Given the description of an element on the screen output the (x, y) to click on. 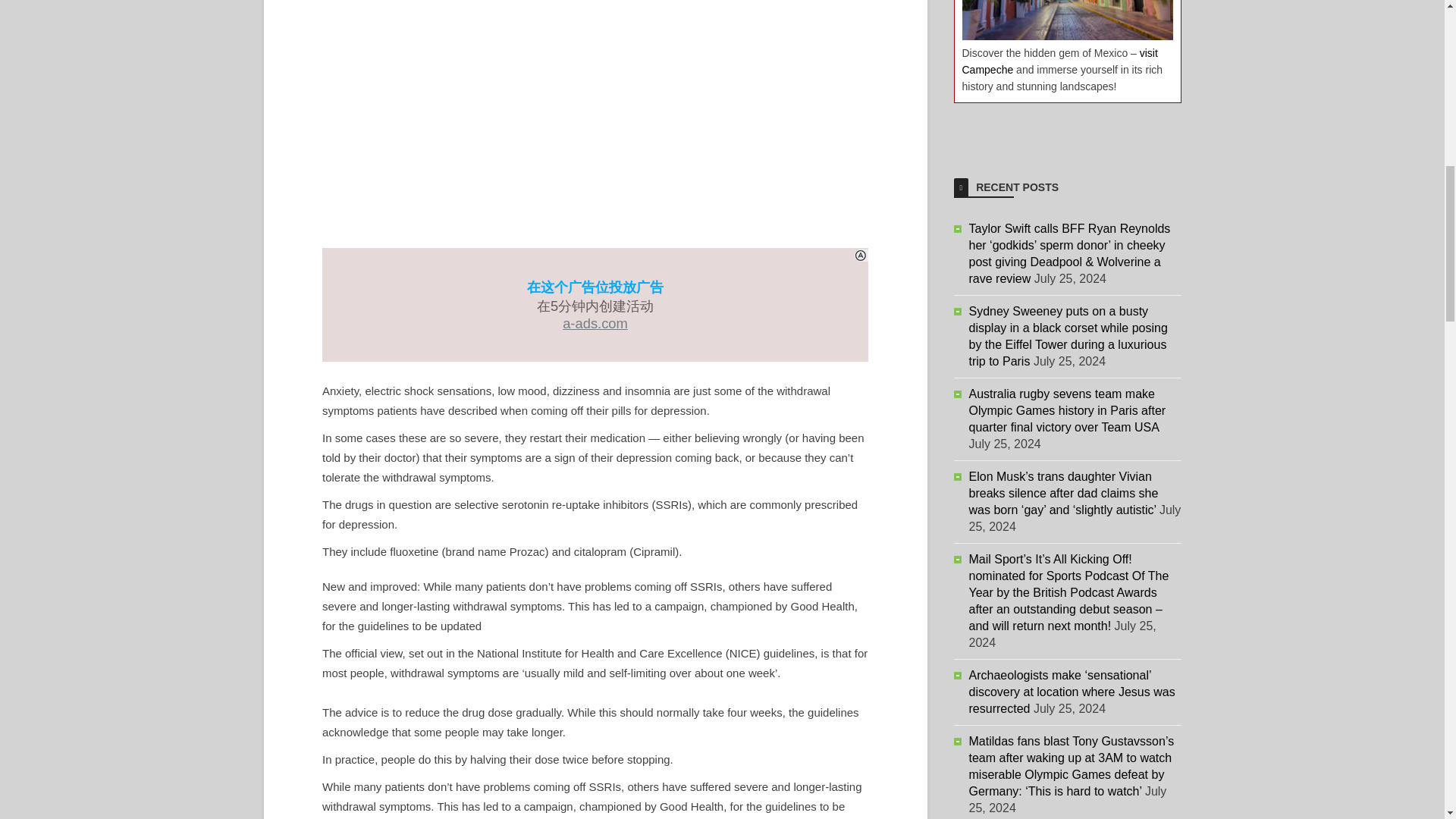
visit Campeche (1058, 61)
